Given the description of an element on the screen output the (x, y) to click on. 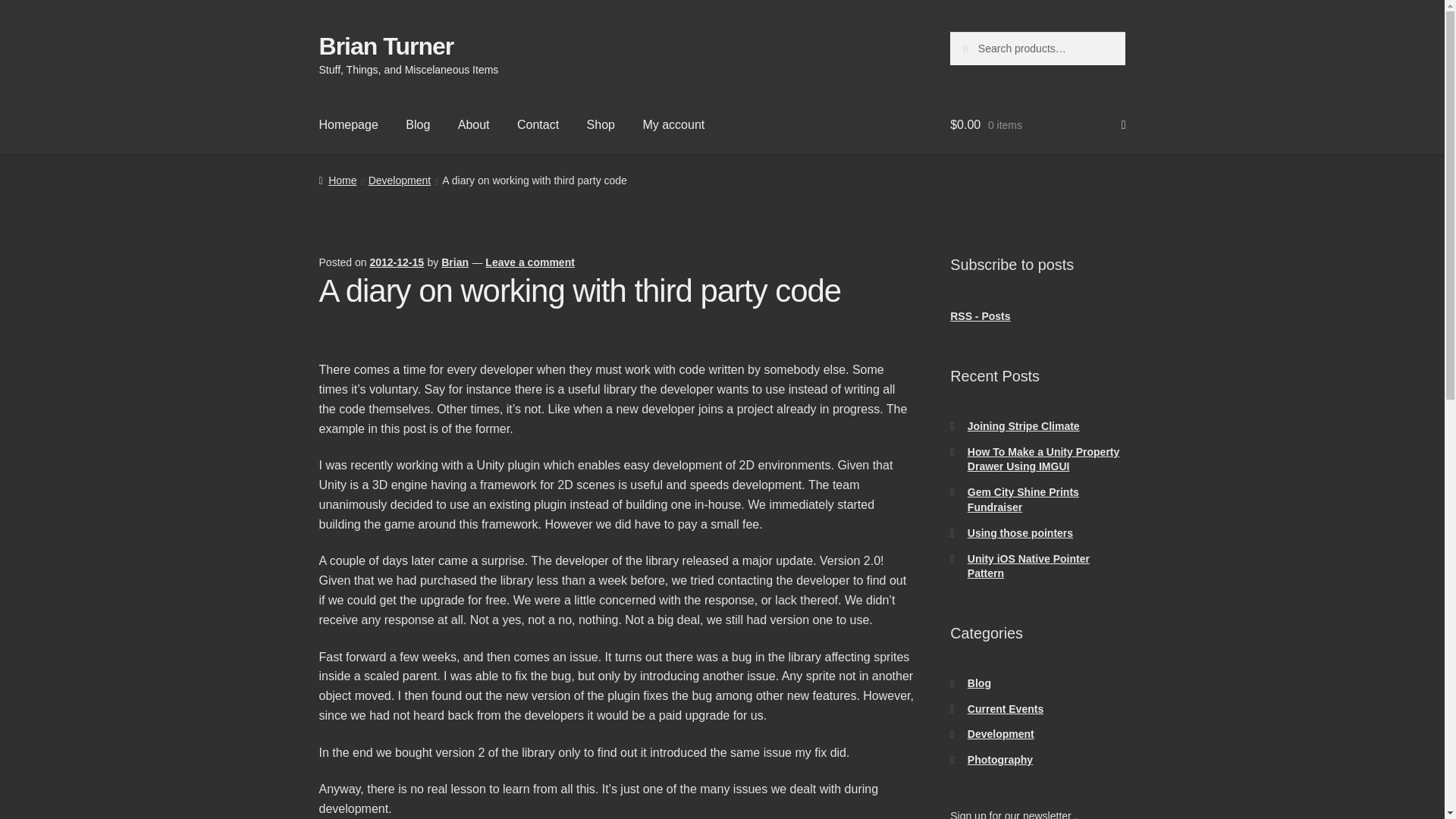
Subscribe to posts (980, 316)
Joining Stripe Climate (1024, 426)
Unity iOS Native Pointer Pattern (1028, 565)
My account (673, 124)
Brian Turner (386, 45)
View your shopping cart (1037, 124)
Home (337, 180)
How To Make a Unity Property Drawer Using IMGUI (1043, 459)
Contact (537, 124)
Blog (979, 683)
Development (1000, 734)
Current Events (1005, 708)
Using those pointers (1020, 532)
Homepage (348, 124)
